Given the description of an element on the screen output the (x, y) to click on. 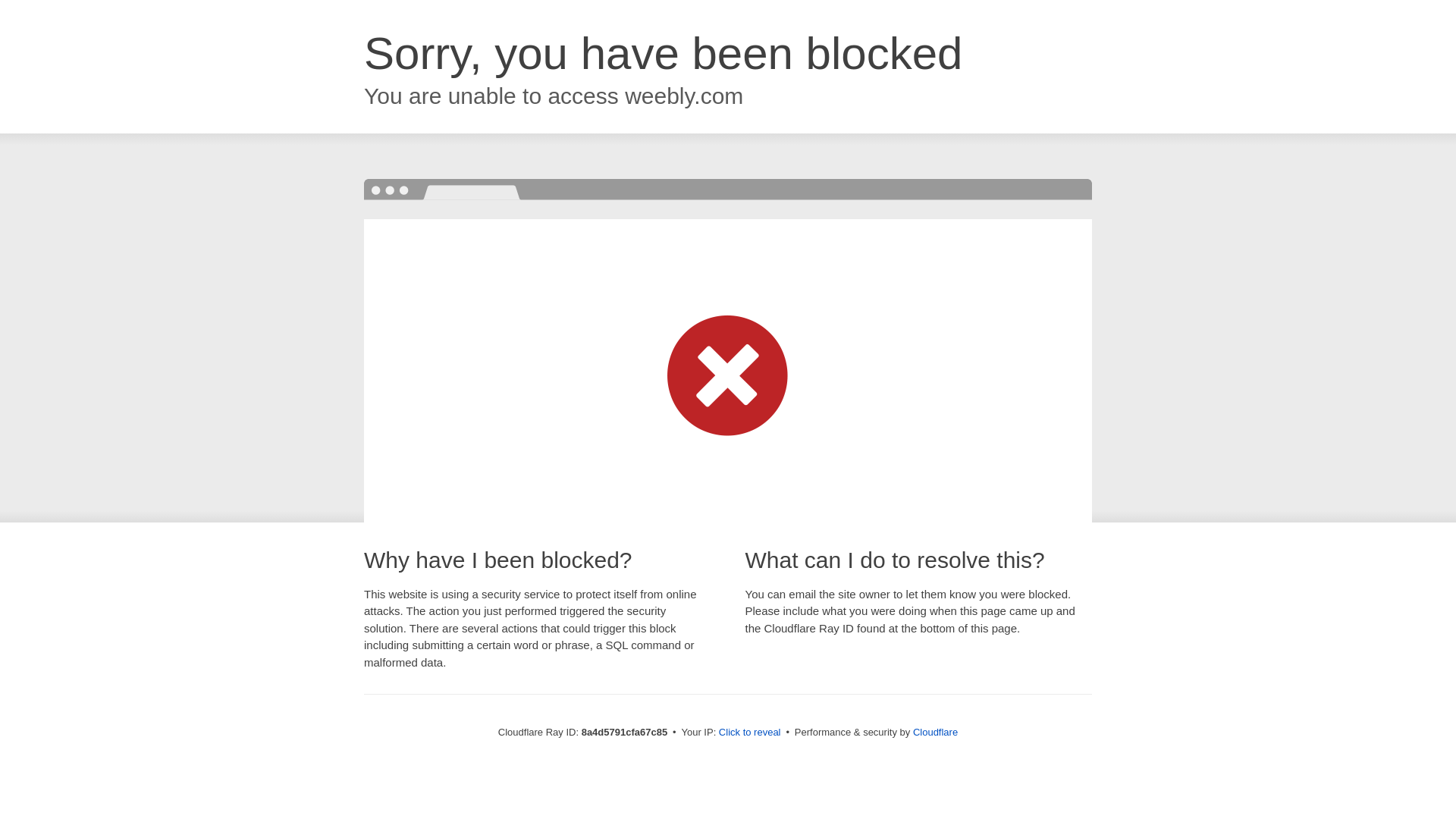
Click to reveal (749, 732)
Cloudflare (935, 731)
